Given the description of an element on the screen output the (x, y) to click on. 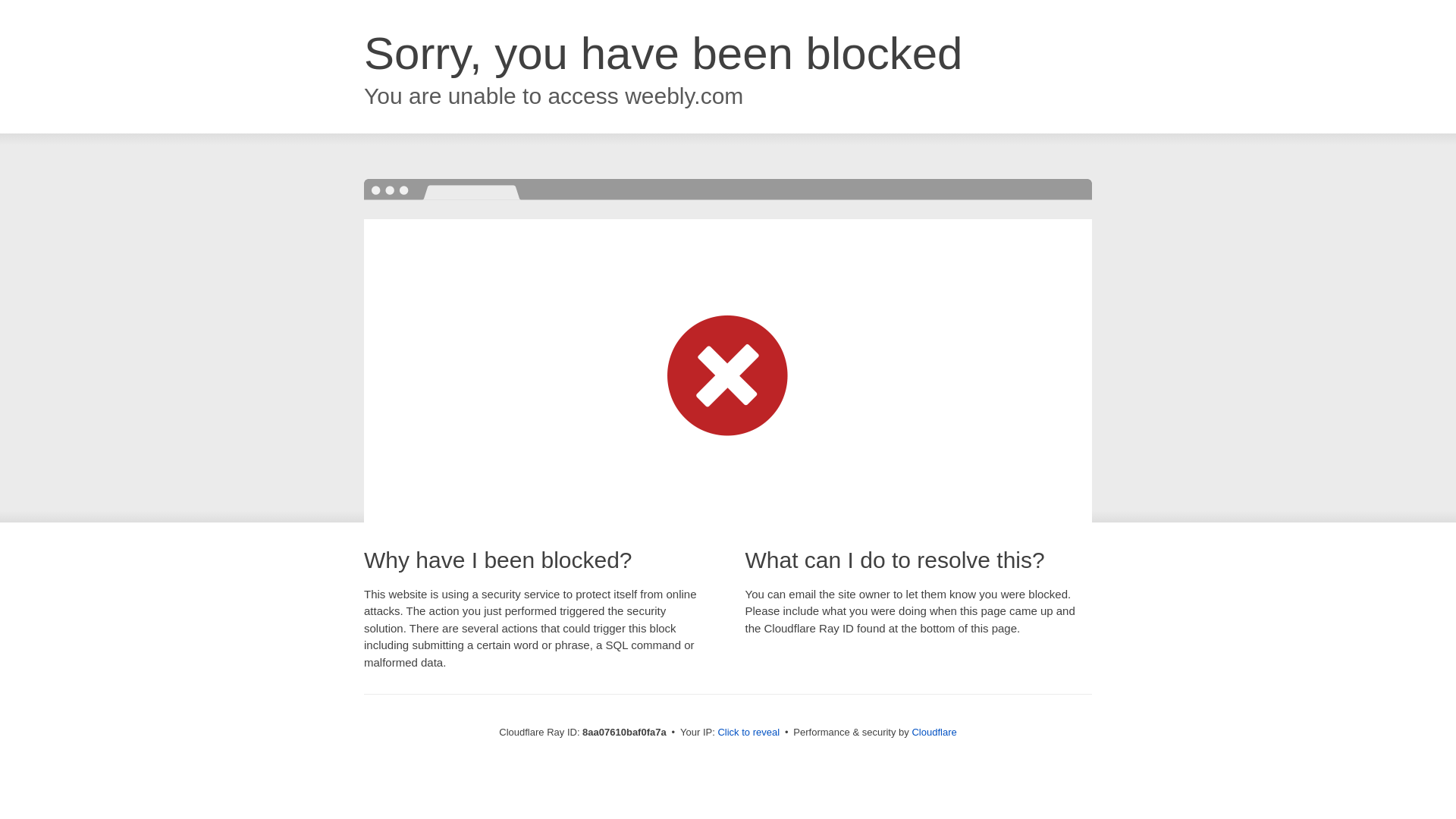
Click to reveal (747, 732)
Cloudflare (933, 731)
